Given the description of an element on the screen output the (x, y) to click on. 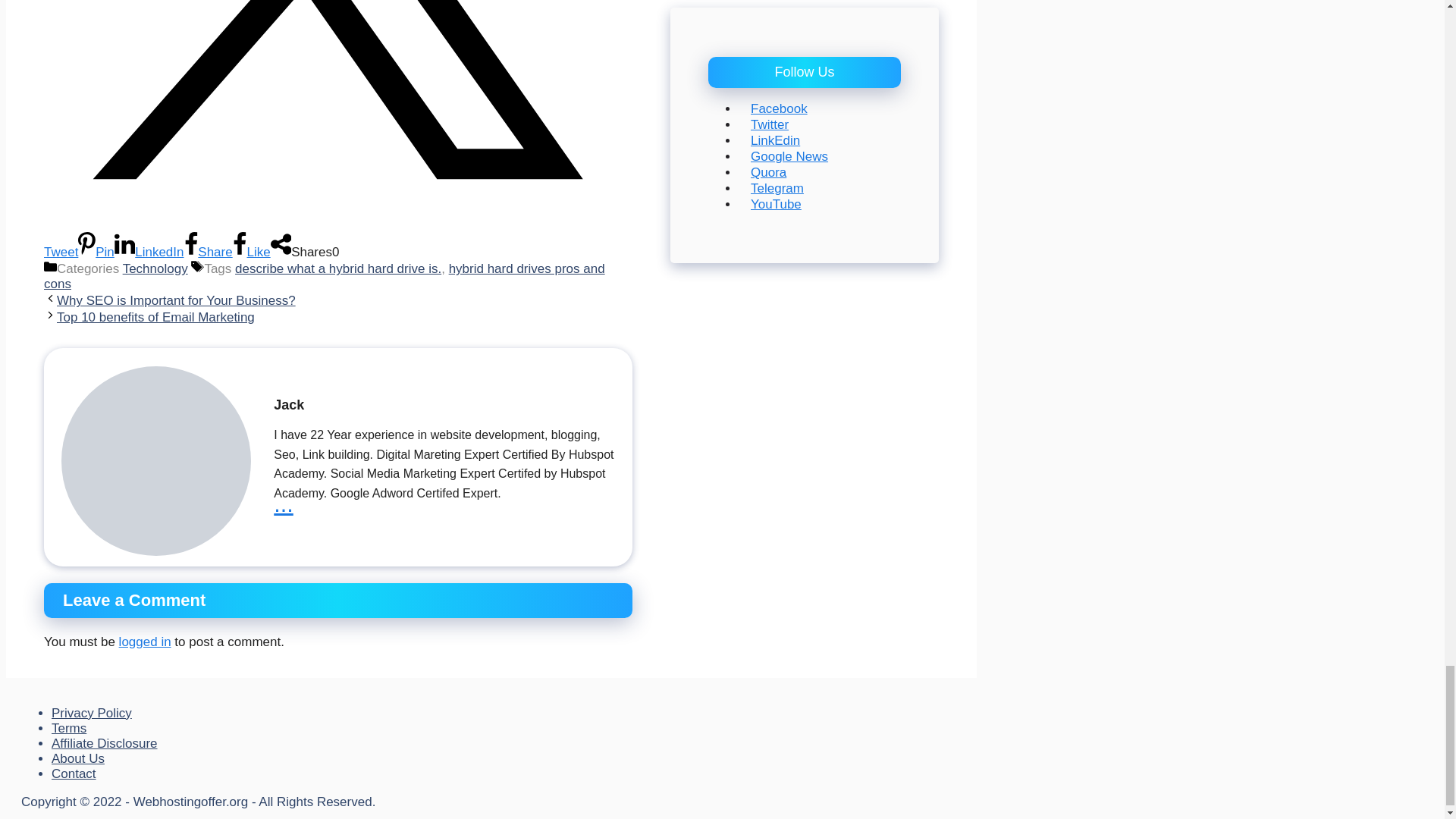
Pin (95, 251)
Why SEO is Important for Your Business? (175, 300)
Tweet (337, 238)
Like (251, 251)
Technology (154, 268)
Top 10 benefits of Email Marketing (155, 317)
Share (207, 251)
LinkedIn (149, 251)
describe what a hybrid hard drive is. (337, 268)
logged in (145, 641)
